Given the description of an element on the screen output the (x, y) to click on. 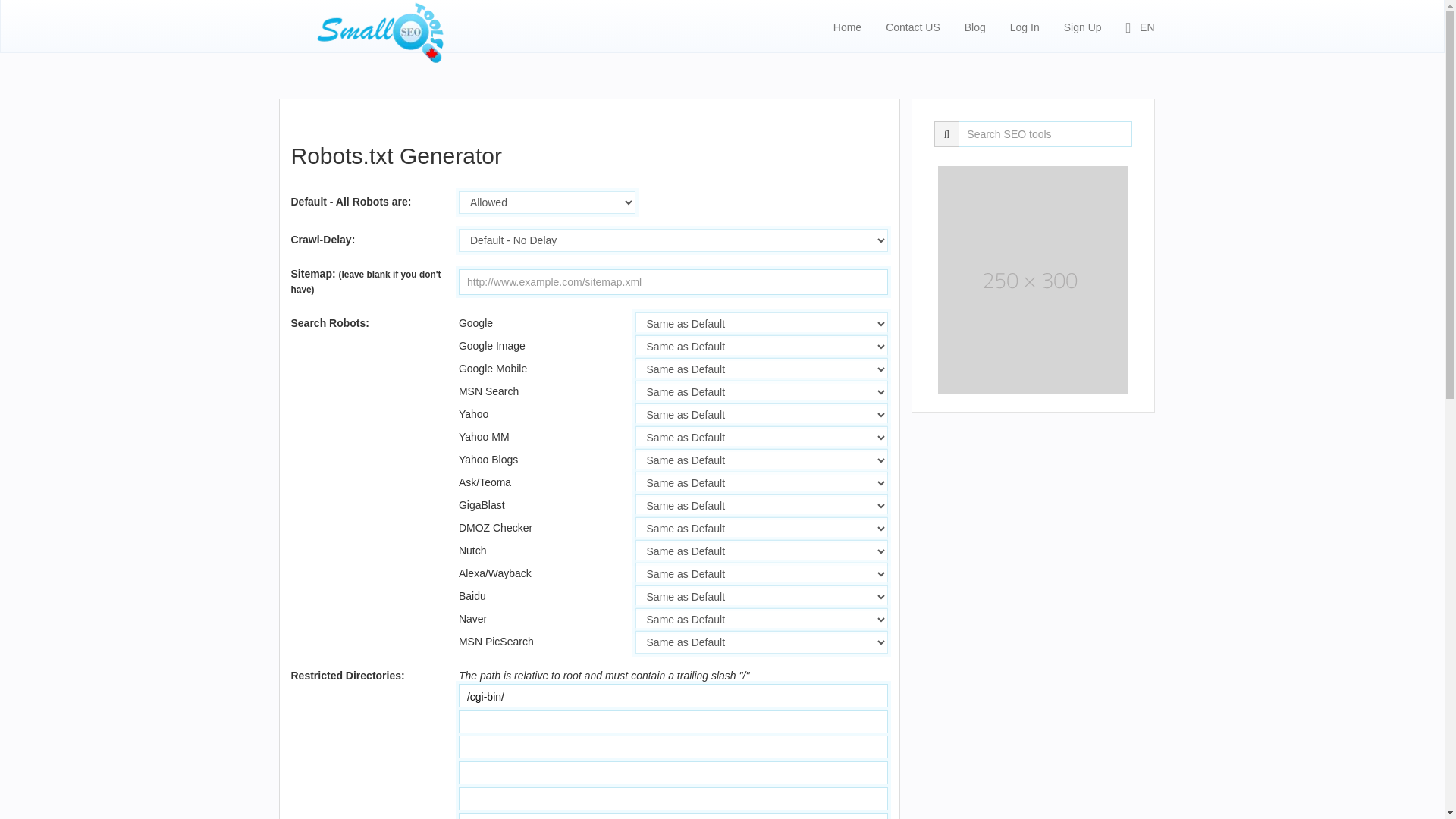
Log In (1024, 25)
Contact US (913, 25)
Sign Up (1082, 25)
  EN (1140, 25)
Home (847, 25)
